Given the description of an element on the screen output the (x, y) to click on. 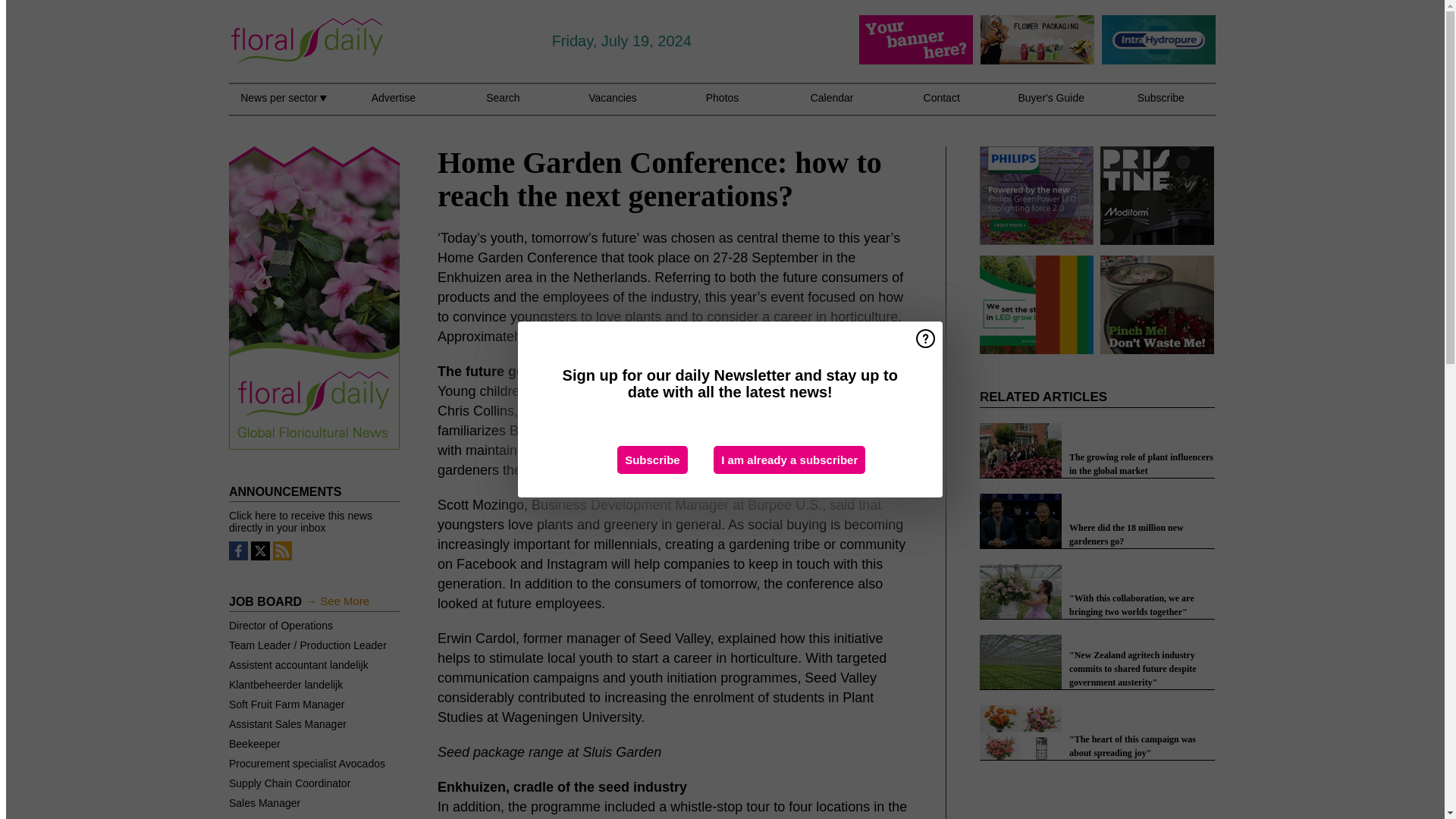
News per sector (283, 106)
Subscribe (652, 459)
I am already a subscriber (788, 459)
